Given the description of an element on the screen output the (x, y) to click on. 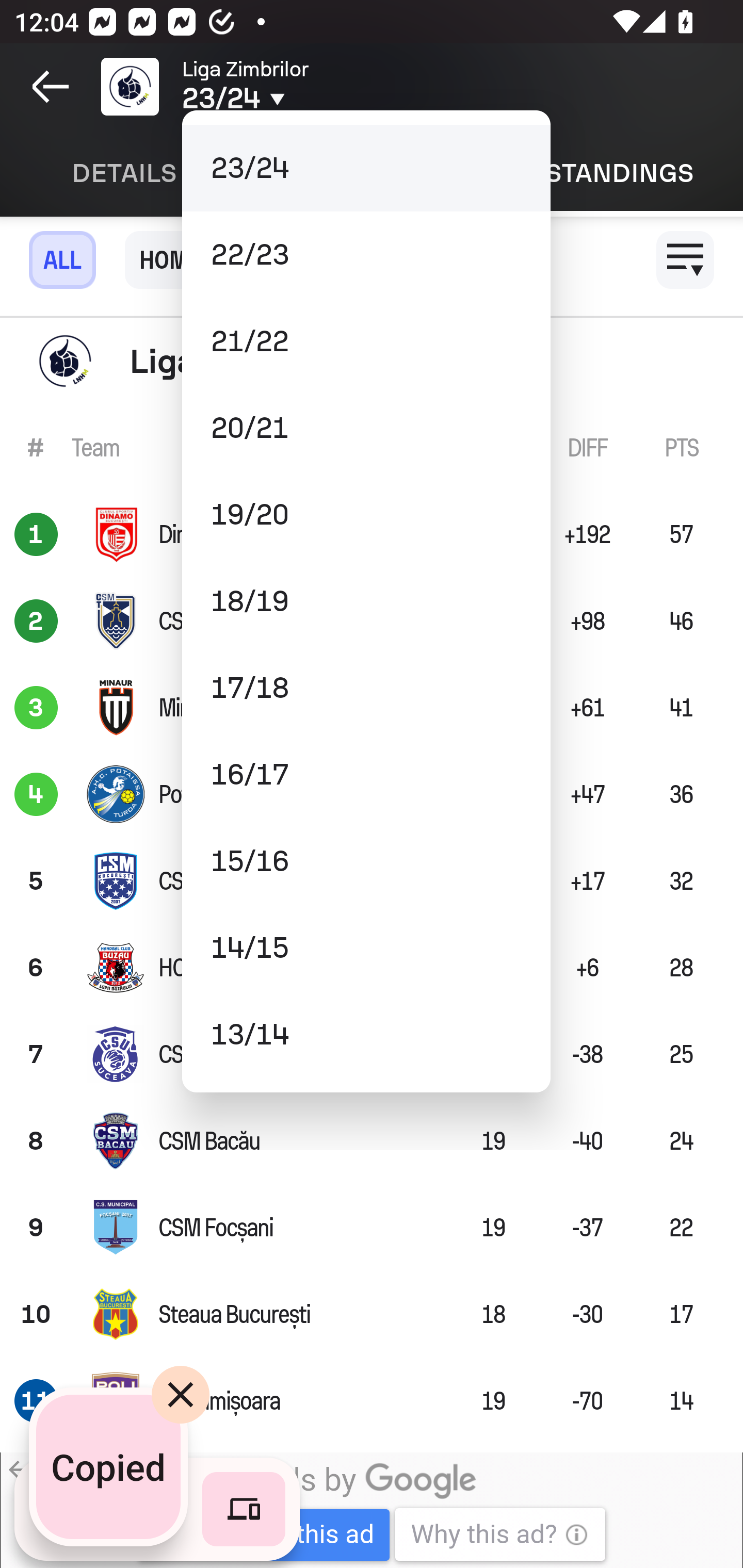
23/24 (366, 168)
22/23 (366, 254)
21/22 (366, 340)
20/21 (366, 427)
19/20 (366, 514)
18/19 (366, 601)
17/18 (366, 687)
16/17 (366, 774)
15/16 (366, 861)
14/15 (366, 947)
13/14 (366, 1034)
